Given the description of an element on the screen output the (x, y) to click on. 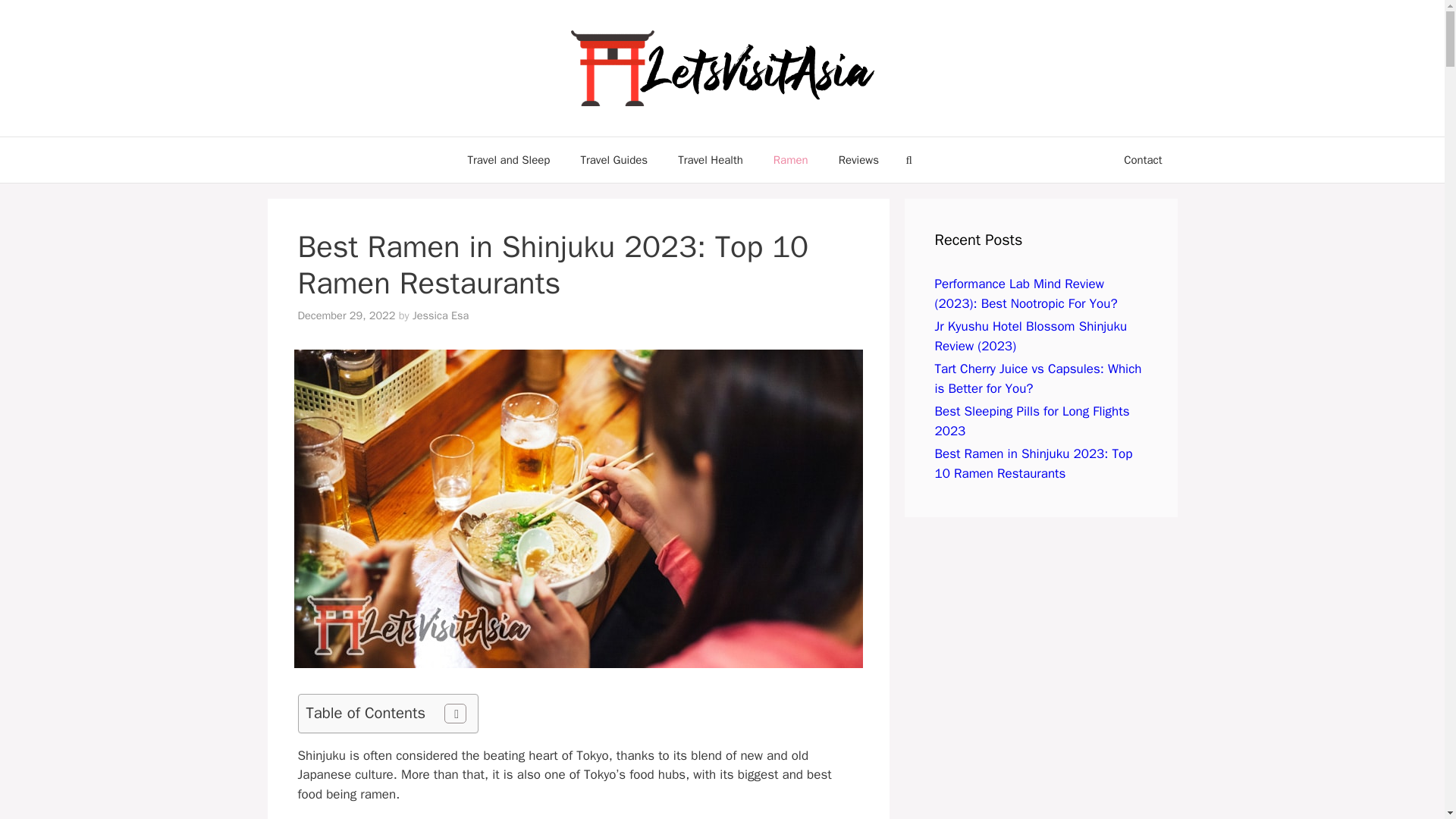
Let's Visit Asia (721, 68)
4:20 pm (345, 315)
Travel Health (710, 159)
Travel Guides (613, 159)
Let's Visit Asia (721, 67)
Ramen (791, 159)
Jessica Esa (440, 315)
Contact (1142, 159)
Travel and Sleep (507, 159)
Reviews (858, 159)
View all posts by Jessica Esa (440, 315)
December 29, 2022 (345, 315)
